Given the description of an element on the screen output the (x, y) to click on. 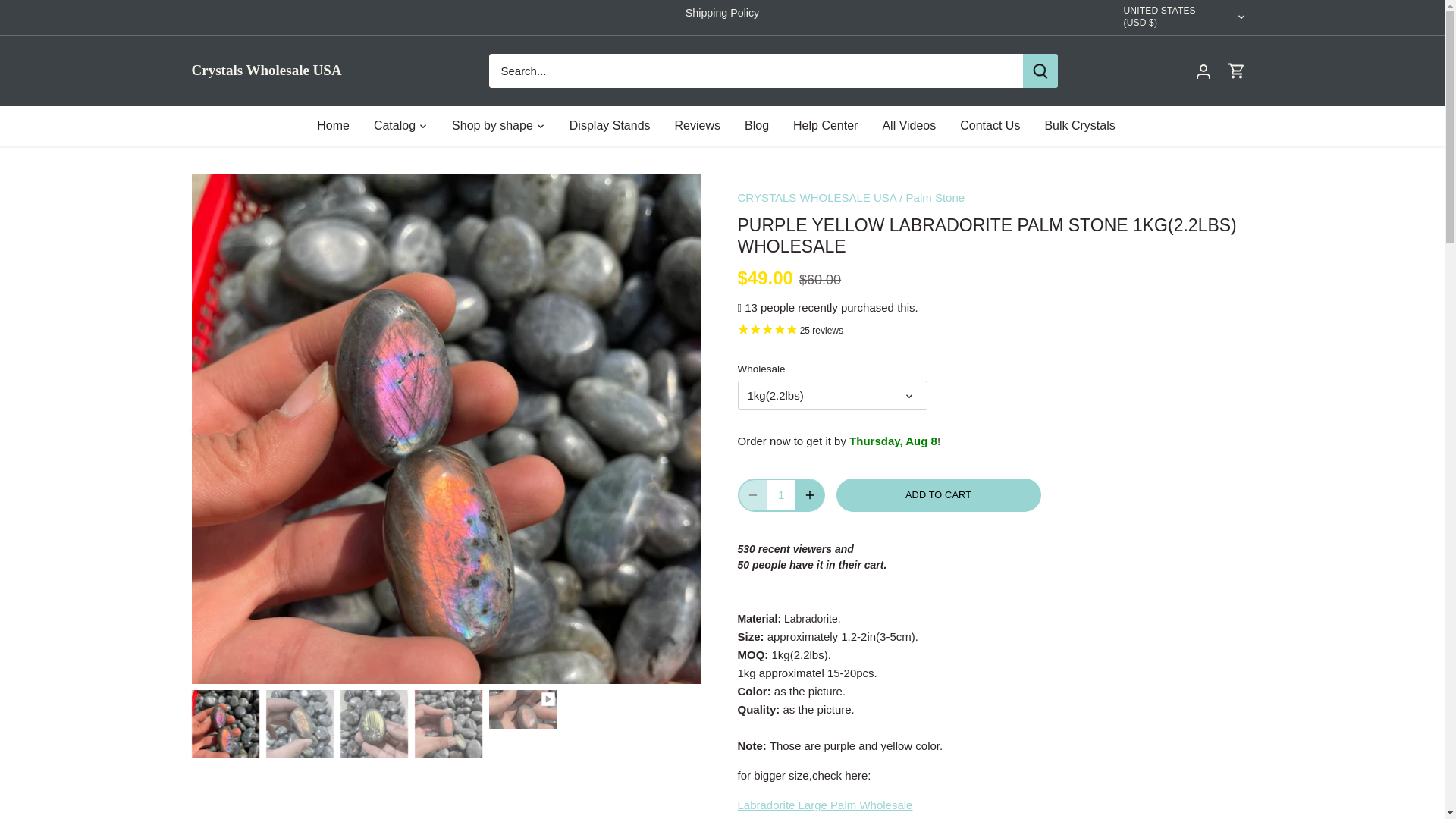
Home (339, 126)
Crystals Wholesale USA (273, 69)
Go to cart (1235, 70)
Catalog (394, 126)
1 (781, 495)
Shipping Policy (721, 12)
